Given the description of an element on the screen output the (x, y) to click on. 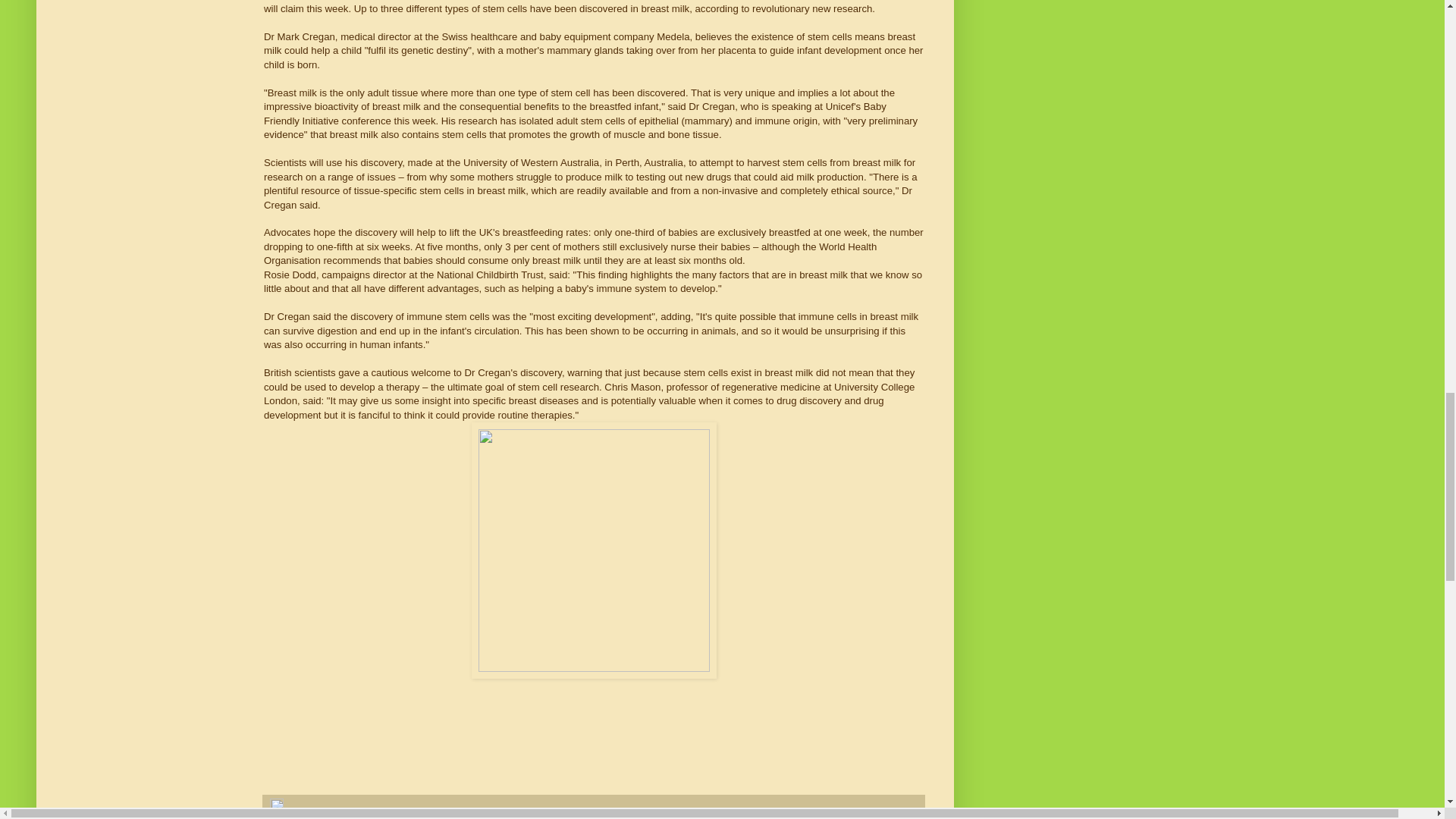
BlogThis! (324, 818)
Share to Pinterest (501, 818)
Share to Pinterest (501, 818)
BlogThis! (324, 818)
Email This (288, 818)
Share to Twitter (370, 818)
Email This (288, 818)
Share to Twitter (370, 818)
Share to Facebook (433, 818)
Share to Facebook (433, 818)
